Given the description of an element on the screen output the (x, y) to click on. 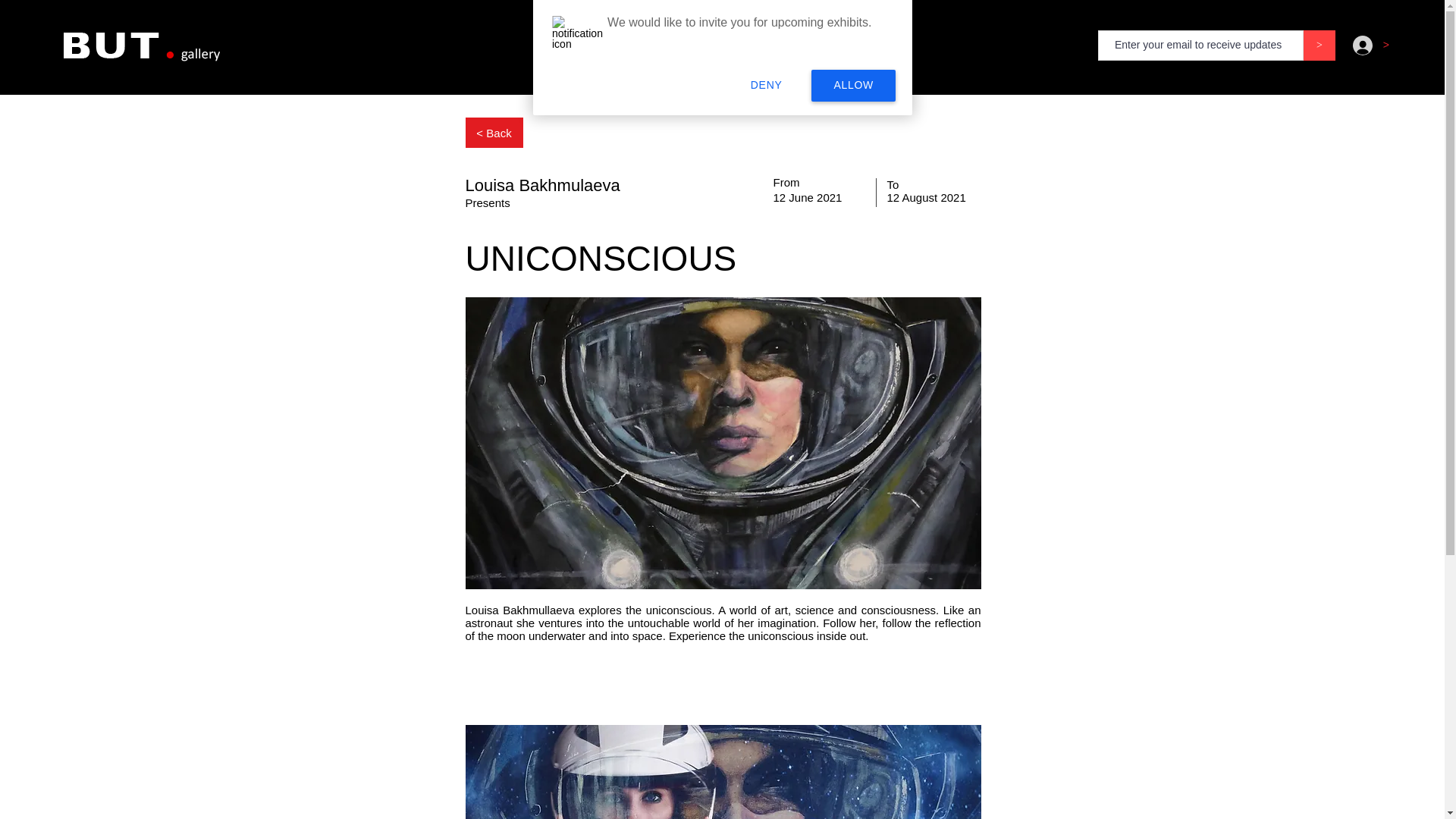
ALLOW (852, 85)
DENY (767, 85)
